Given the description of an element on the screen output the (x, y) to click on. 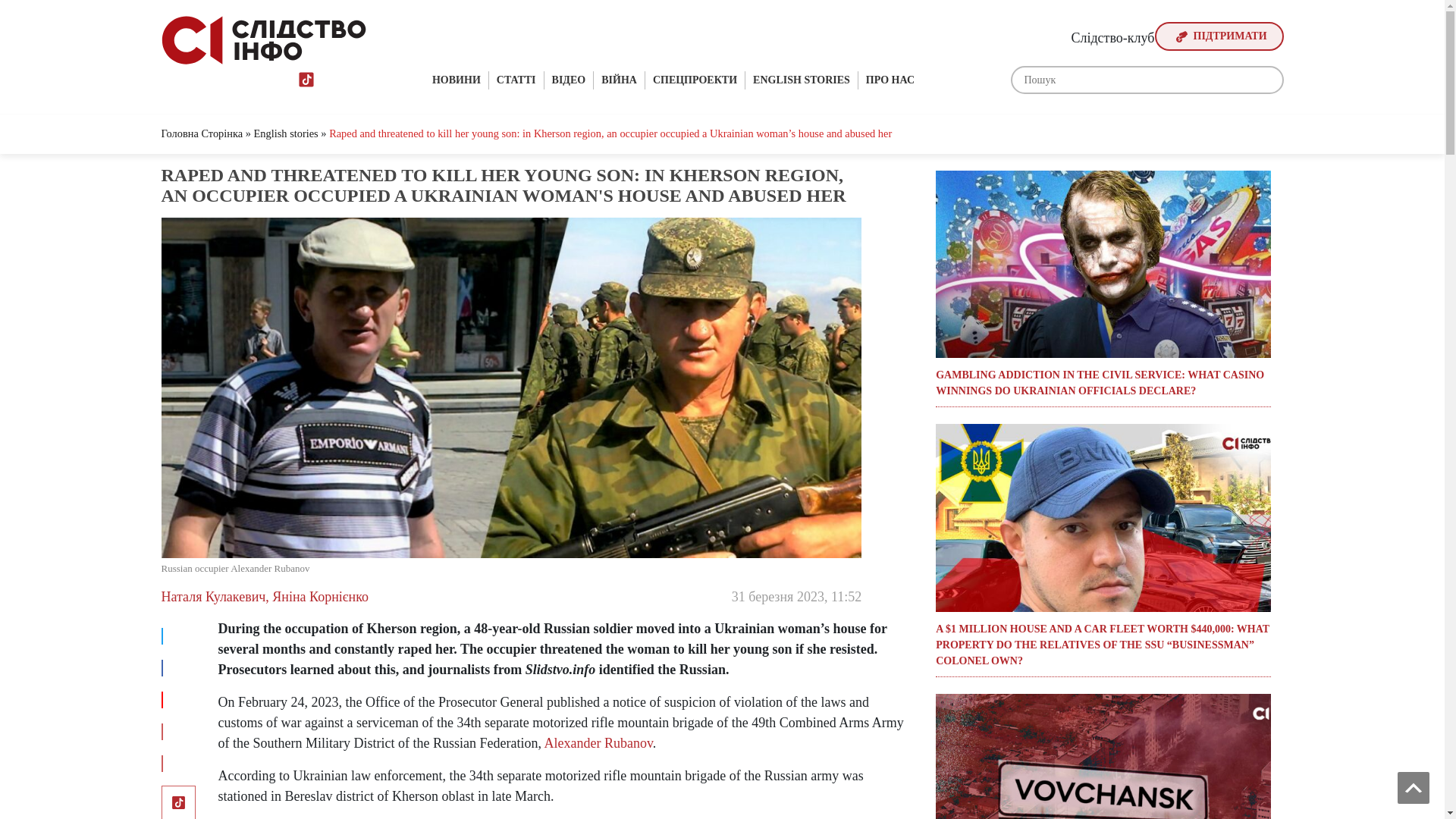
ENGLISH STORIES (802, 80)
English stories (285, 133)
Alexander Rubanov (597, 743)
